Given the description of an element on the screen output the (x, y) to click on. 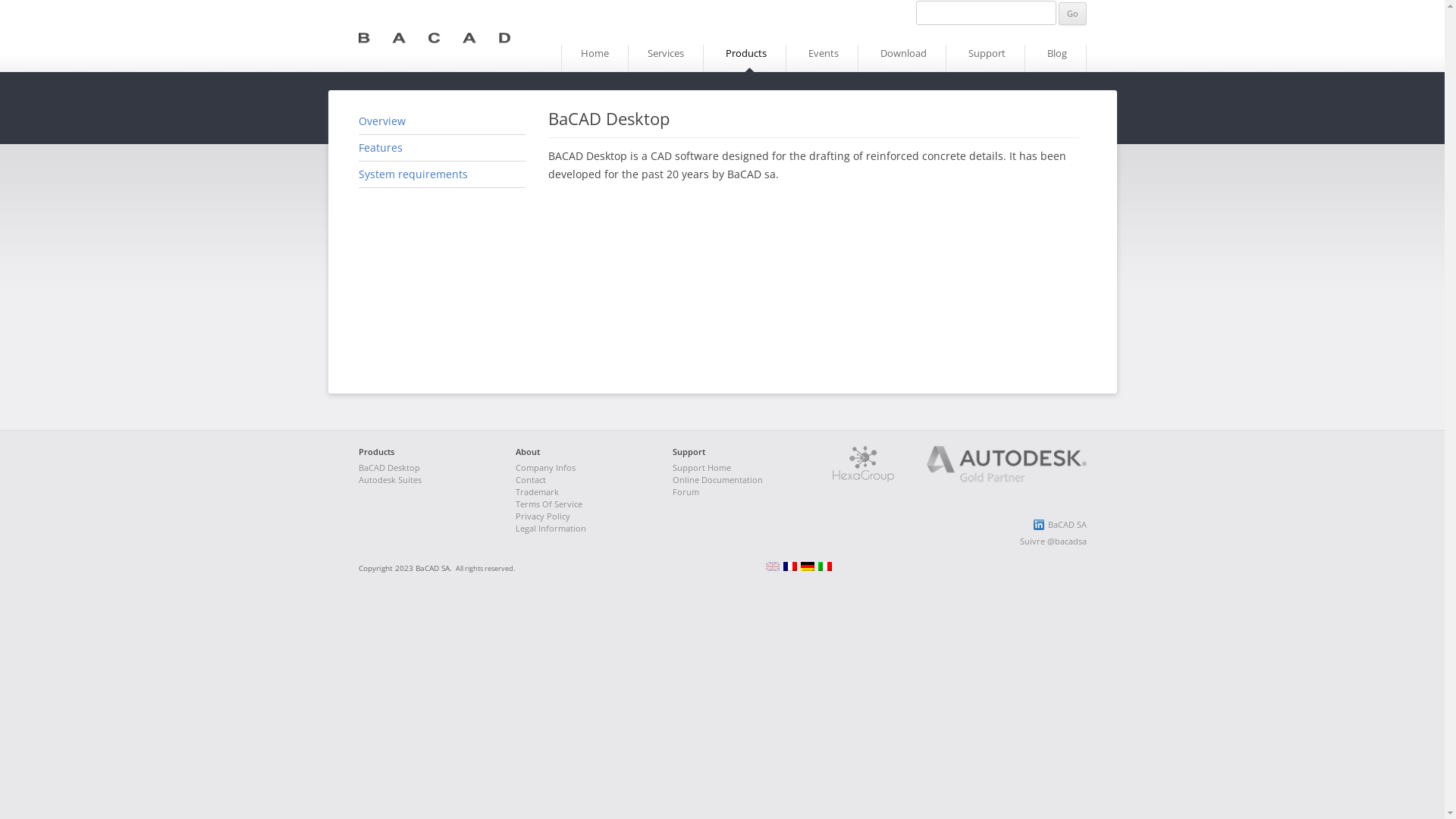
Terms Of Service Element type: text (548, 503)
Support Home Element type: text (701, 467)
Deutsch (de) Element type: hover (807, 567)
Company Infos Element type: text (545, 467)
Overview Element type: text (380, 120)
Home Element type: text (594, 58)
Download Element type: text (903, 58)
Trademark Element type: text (536, 491)
Products Element type: text (745, 58)
Go Element type: text (1072, 13)
Online Documentation Element type: text (717, 479)
Blog Element type: text (1056, 58)
Hexagroup Element type: hover (863, 478)
BaCAD SA Element type: text (1067, 524)
Features Element type: text (379, 147)
BaCAD Desktop Element type: text (388, 467)
English (en) Element type: hover (772, 567)
Events Element type: text (822, 58)
Forum Element type: text (685, 491)
Privacy Policy Element type: text (542, 515)
Services Element type: text (664, 58)
Suivre @bacadsa Element type: text (1052, 540)
System requirements Element type: text (412, 173)
Contact Element type: text (530, 479)
Autodesk Suites Element type: text (388, 479)
Italiano (it) Element type: hover (824, 567)
Legal Information Element type: text (550, 527)
Autodesk Gold Partner Element type: hover (990, 478)
Support Element type: text (986, 58)
